Given the description of an element on the screen output the (x, y) to click on. 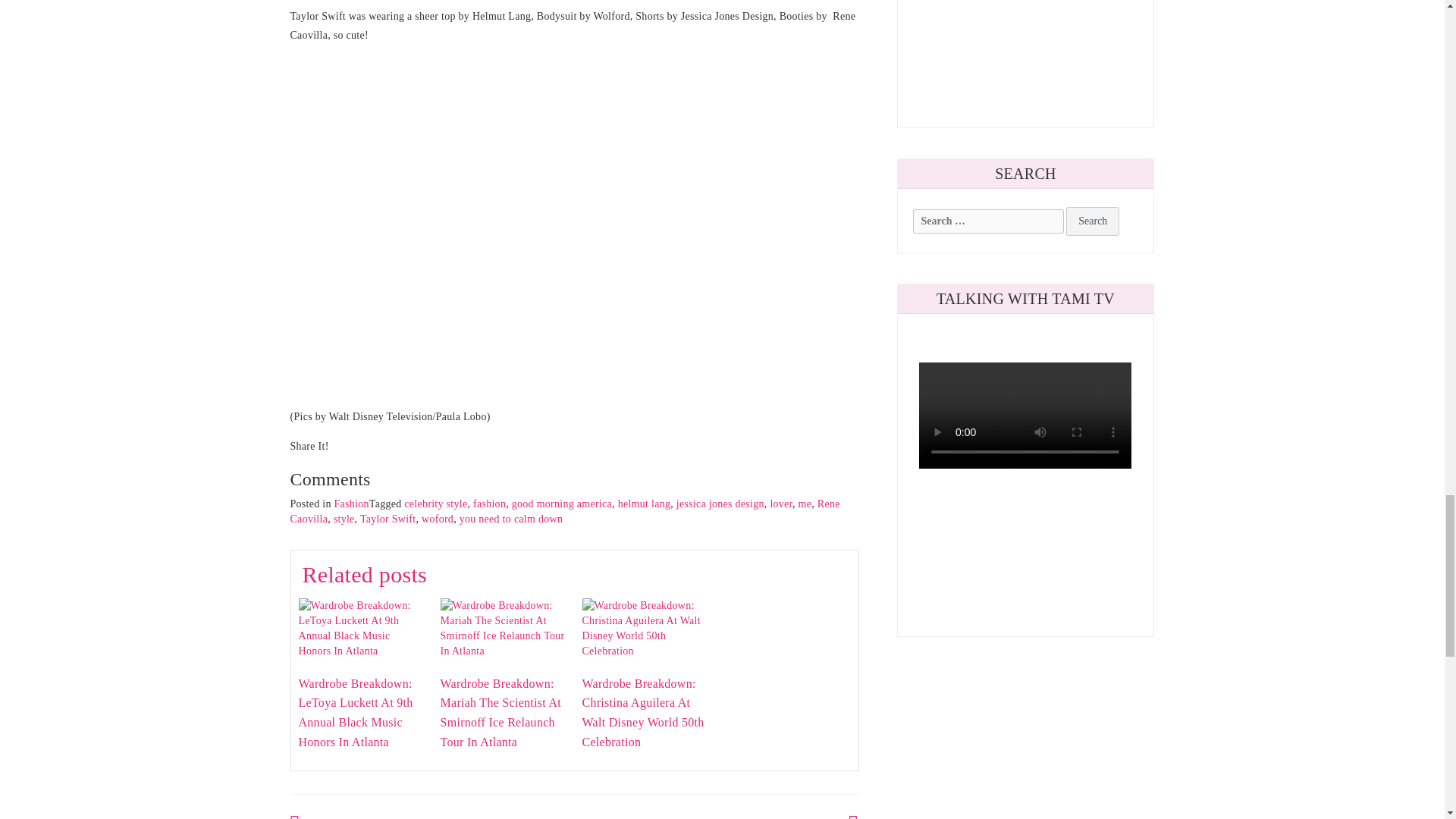
Search (1092, 221)
Rene Caovilla (564, 510)
jessica jones design (720, 503)
fashion (489, 503)
Search (1092, 221)
celebrity style (435, 503)
helmut lang (644, 503)
